Given the description of an element on the screen output the (x, y) to click on. 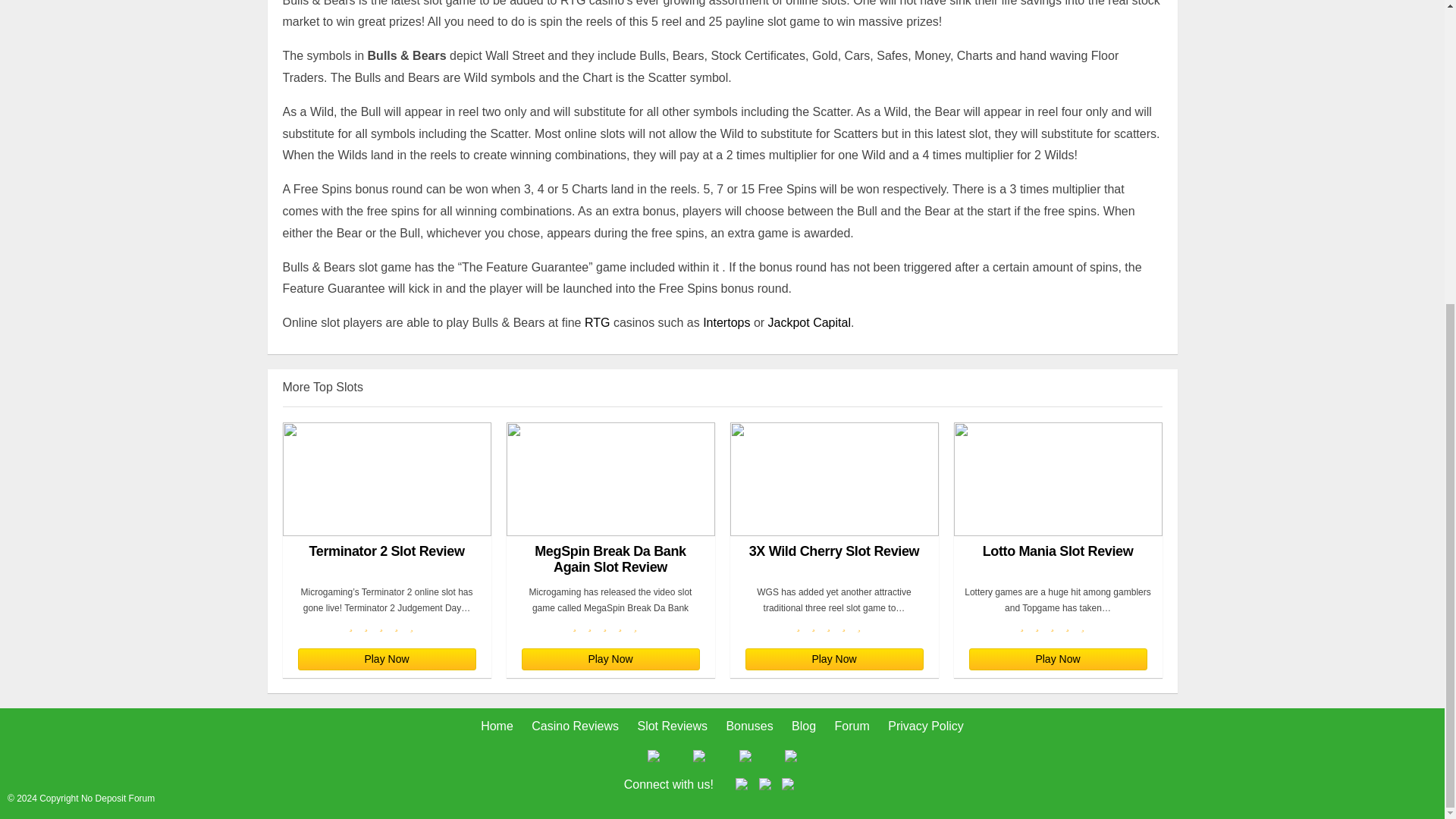
Casino Reviews (574, 725)
Jackpot Capital (809, 322)
Blog (803, 725)
Terminator 2 Slot Review (386, 499)
Play Now (833, 659)
Slot Reviews (671, 725)
MegSpin Break Da Bank Again Slot Review (610, 499)
RT (592, 322)
Forum (851, 725)
Privacy Policy (925, 725)
